Given the description of an element on the screen output the (x, y) to click on. 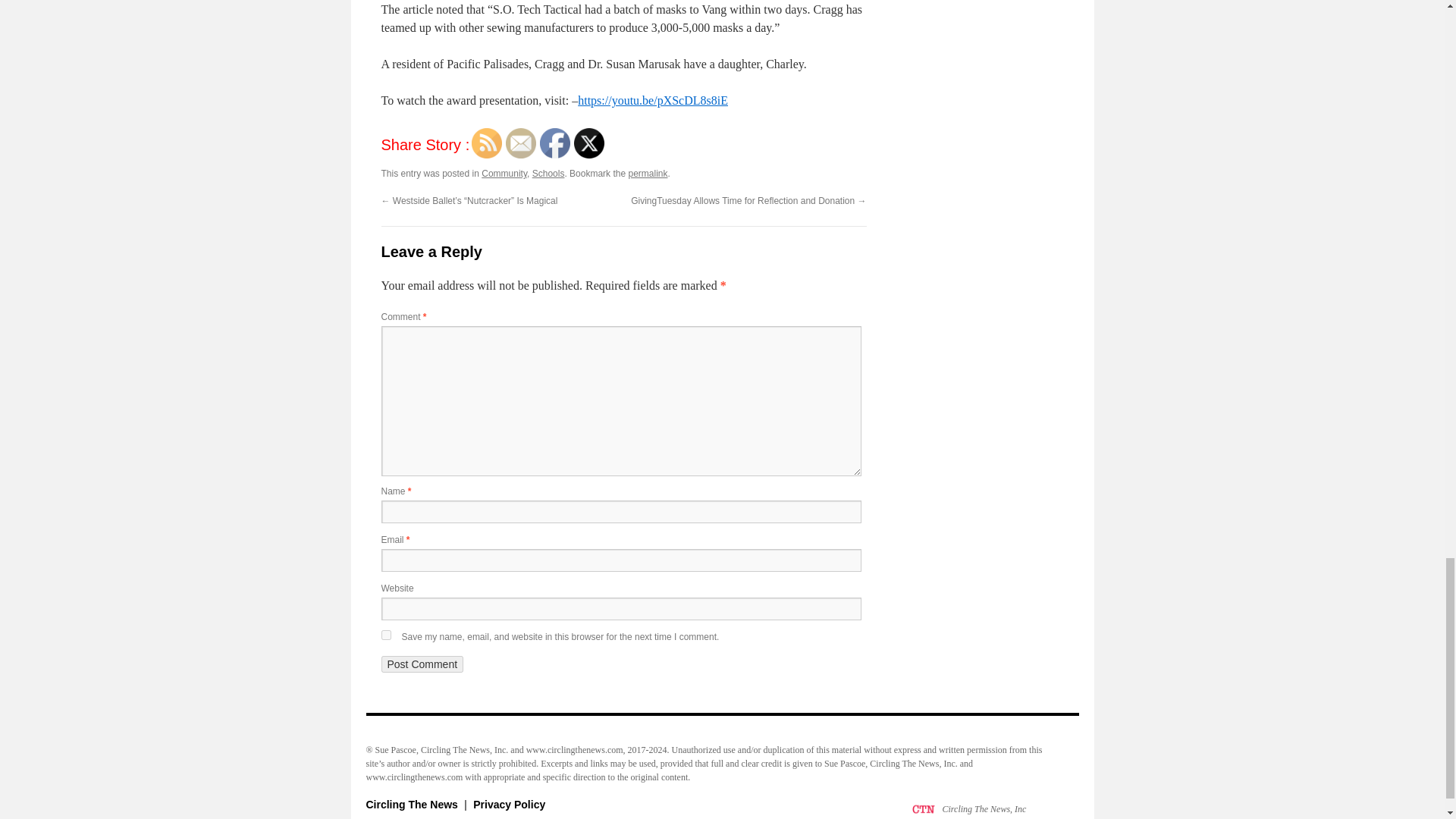
RSS (486, 142)
Twitter (588, 142)
Schools (548, 173)
Community (504, 173)
Follow by Email (520, 142)
permalink (646, 173)
Post Comment (421, 664)
yes (385, 634)
Facebook (555, 142)
Post Comment (421, 664)
